Given the description of an element on the screen output the (x, y) to click on. 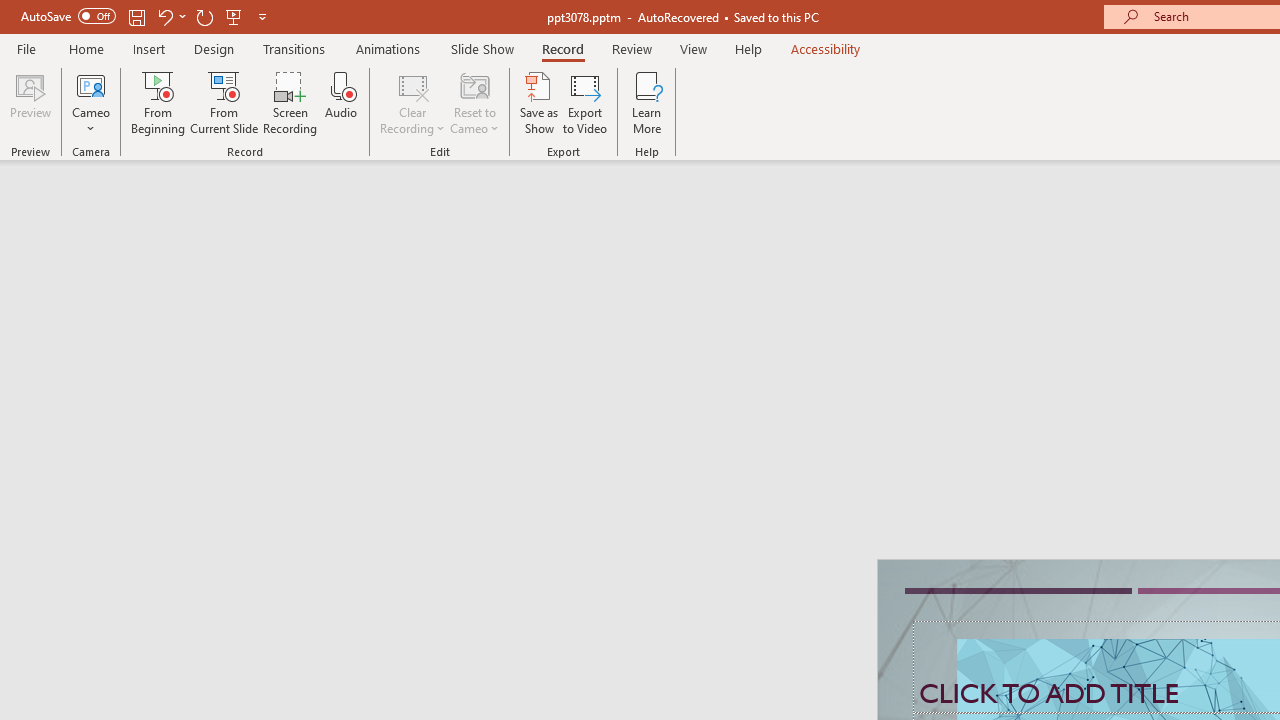
Explorer (Ctrl+Shift+E) (135, 388)
Application Menu (135, 322)
Tab actions (945, 322)
